Given the description of an element on the screen output the (x, y) to click on. 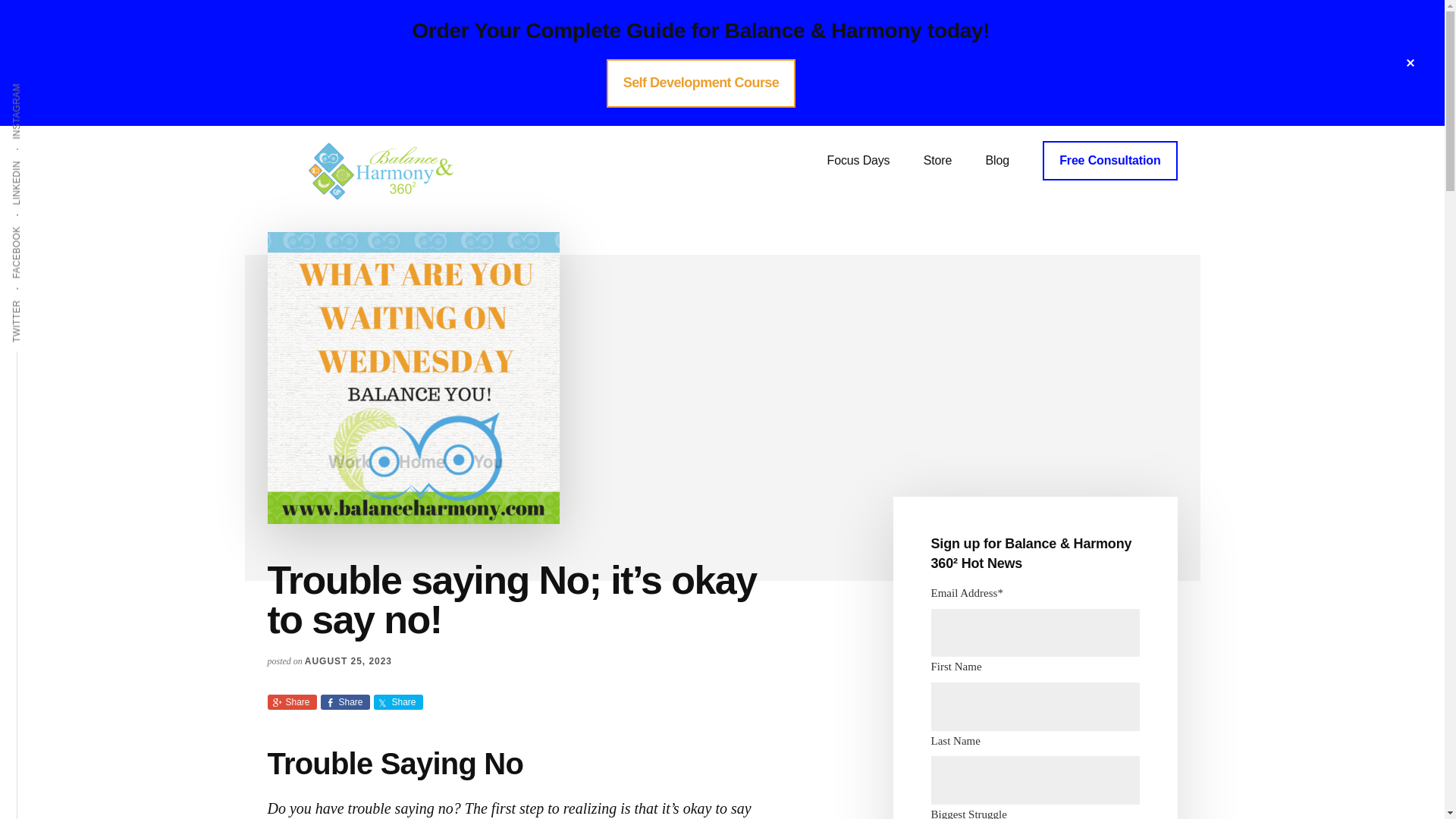
TWITTER (38, 299)
INSTAGRAM (45, 82)
Focus Days (858, 160)
Share (344, 702)
Free Consultation (1109, 160)
Self Development Course (701, 82)
Share (290, 702)
LINKEDIN (39, 159)
Share (397, 702)
